Given the description of an element on the screen output the (x, y) to click on. 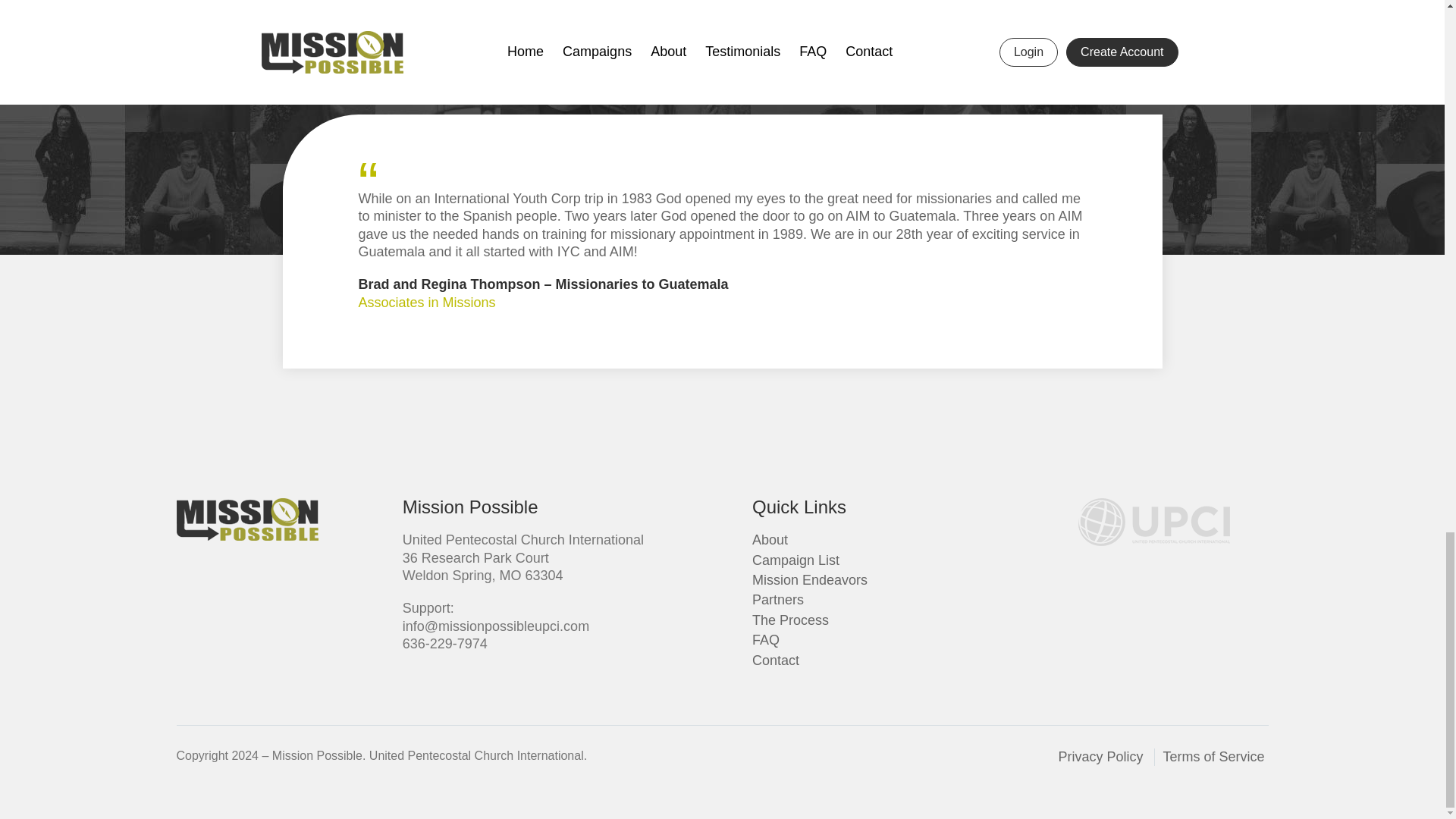
FAQ (765, 639)
About (769, 539)
The Process (790, 620)
Contact (775, 660)
Partners (777, 599)
Mission Endeavors (809, 580)
Campaign List (796, 560)
